Given the description of an element on the screen output the (x, y) to click on. 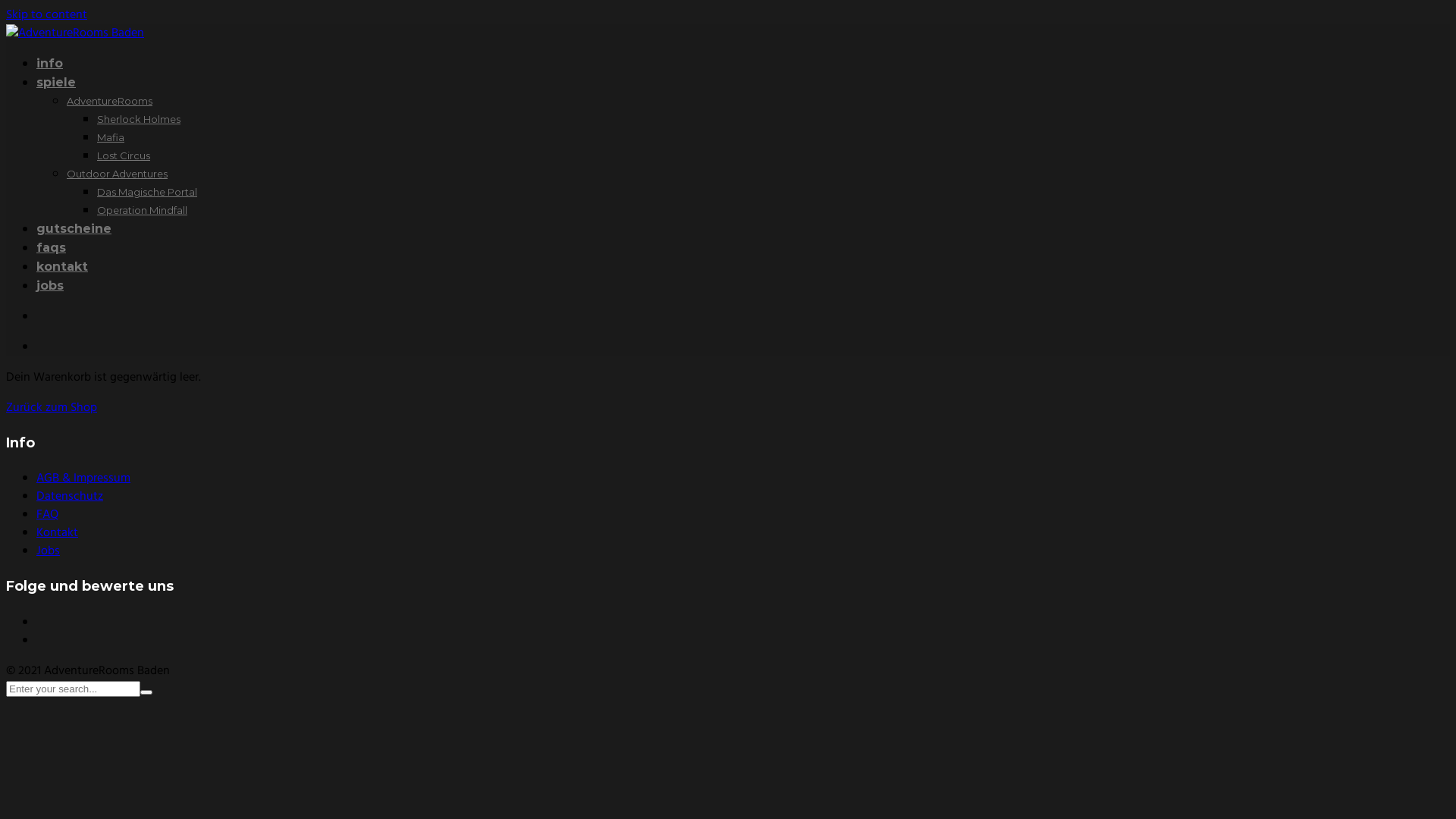
Sherlock Holmes Element type: text (138, 118)
AdventureRooms Element type: text (109, 100)
jobs Element type: text (49, 285)
Skip to content Element type: text (46, 15)
spiele Element type: text (55, 82)
Kontakt Element type: text (57, 532)
info Element type: text (49, 63)
kontakt Element type: text (61, 266)
Das Magische Portal Element type: text (147, 191)
Operation Mindfall Element type: text (142, 209)
faqs Element type: text (50, 247)
FAQ Element type: text (47, 514)
Jobs Element type: text (47, 551)
Datenschutz Element type: text (69, 496)
AGB & Impressum Element type: text (83, 478)
Outdoor Adventures Element type: text (116, 173)
Mafia Element type: text (110, 137)
Lost Circus Element type: text (123, 155)
gutscheine Element type: text (73, 228)
